Given the description of an element on the screen output the (x, y) to click on. 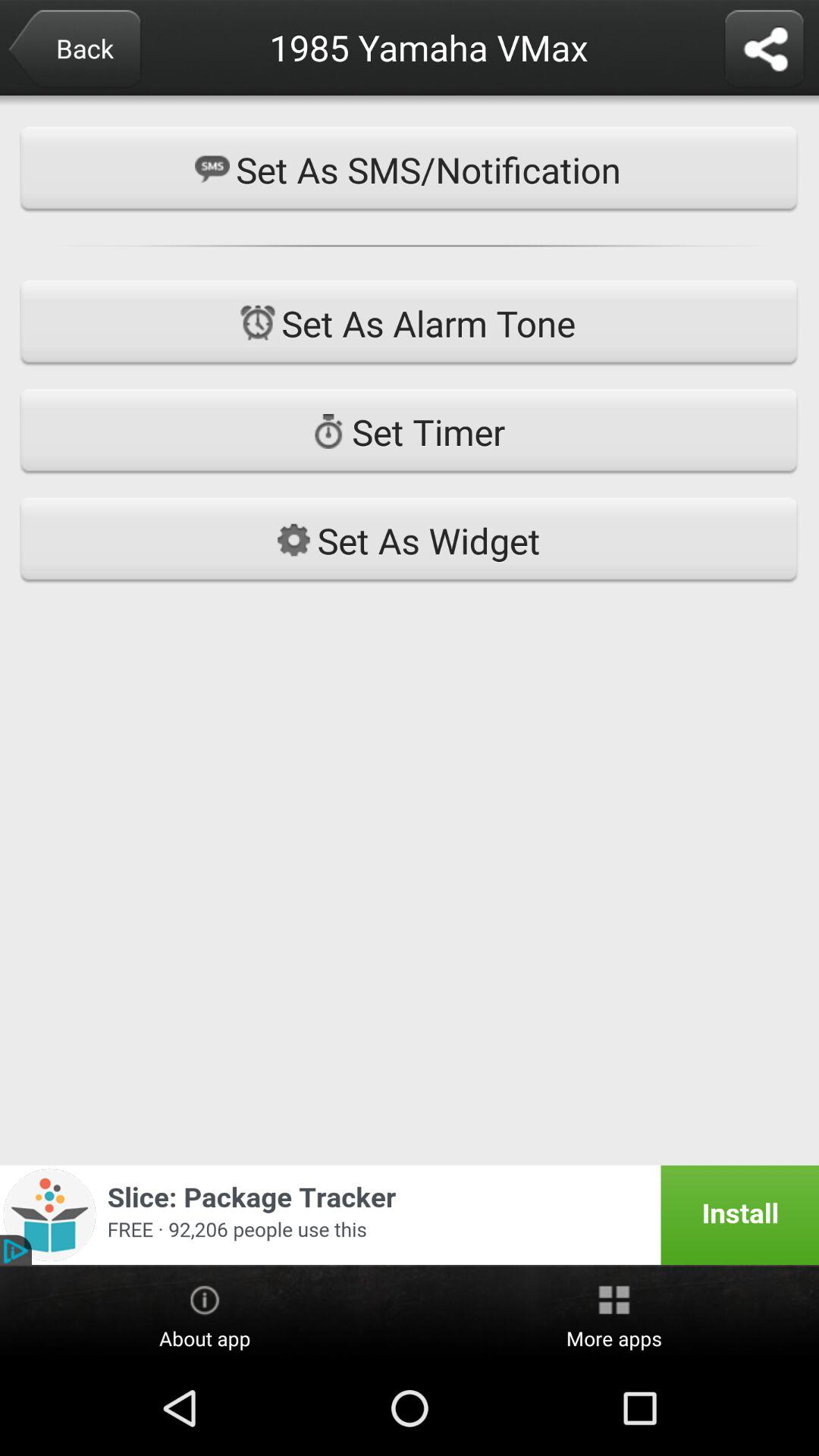
open icon next to 1985 yamaha vmax (764, 50)
